Given the description of an element on the screen output the (x, y) to click on. 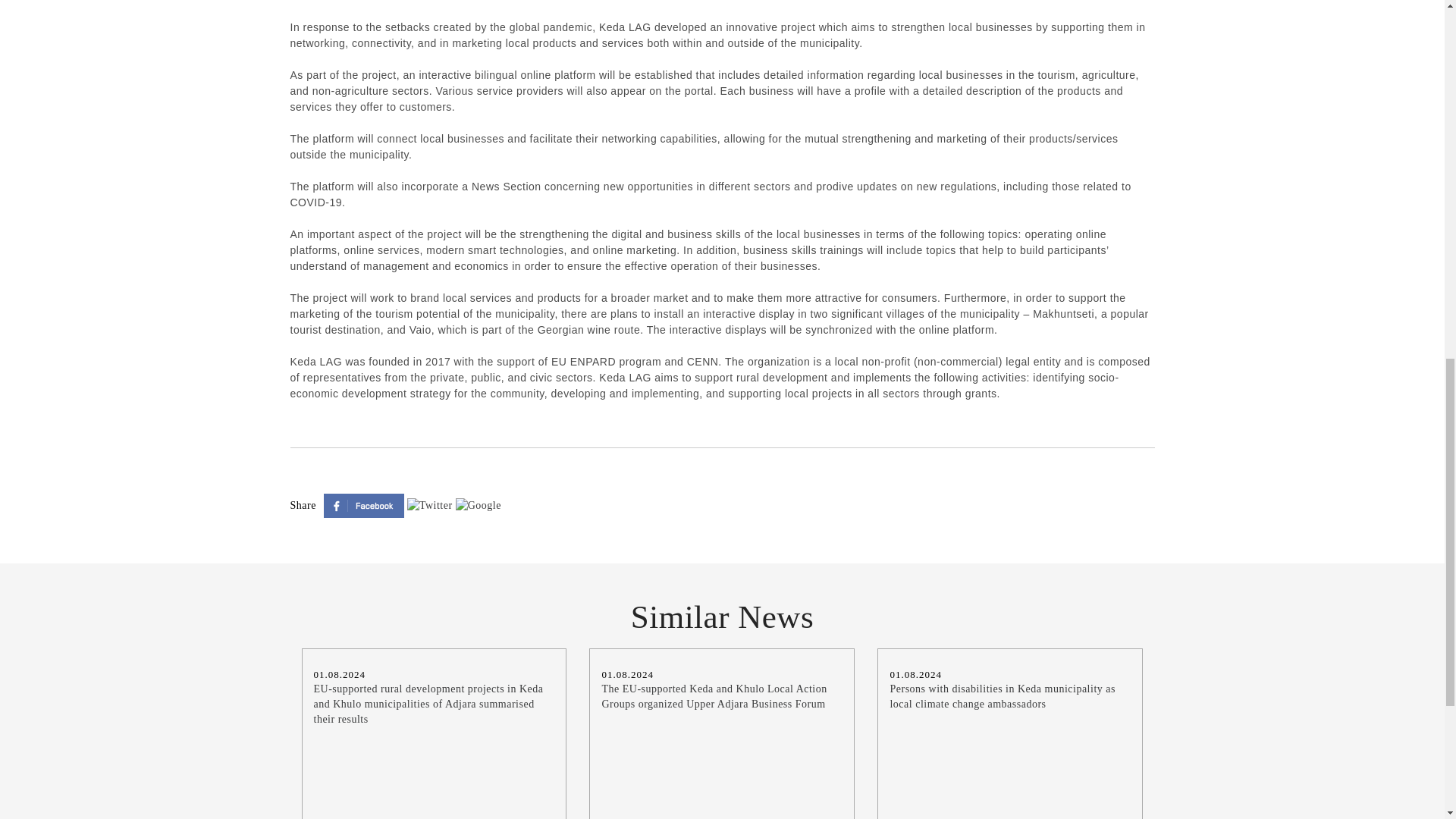
FaceBook (365, 504)
Twitter (431, 504)
Google (477, 504)
